Given the description of an element on the screen output the (x, y) to click on. 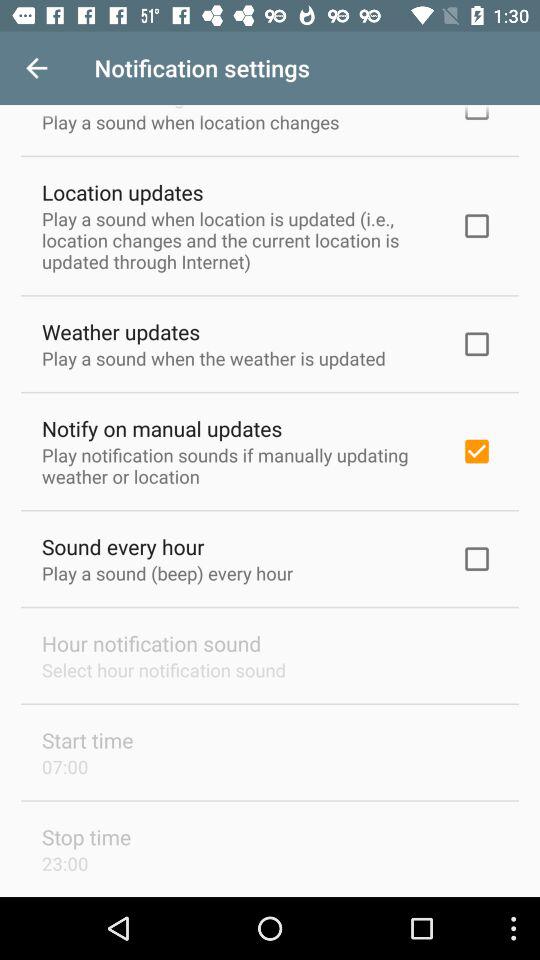
turn on icon below the play a sound (162, 428)
